Given the description of an element on the screen output the (x, y) to click on. 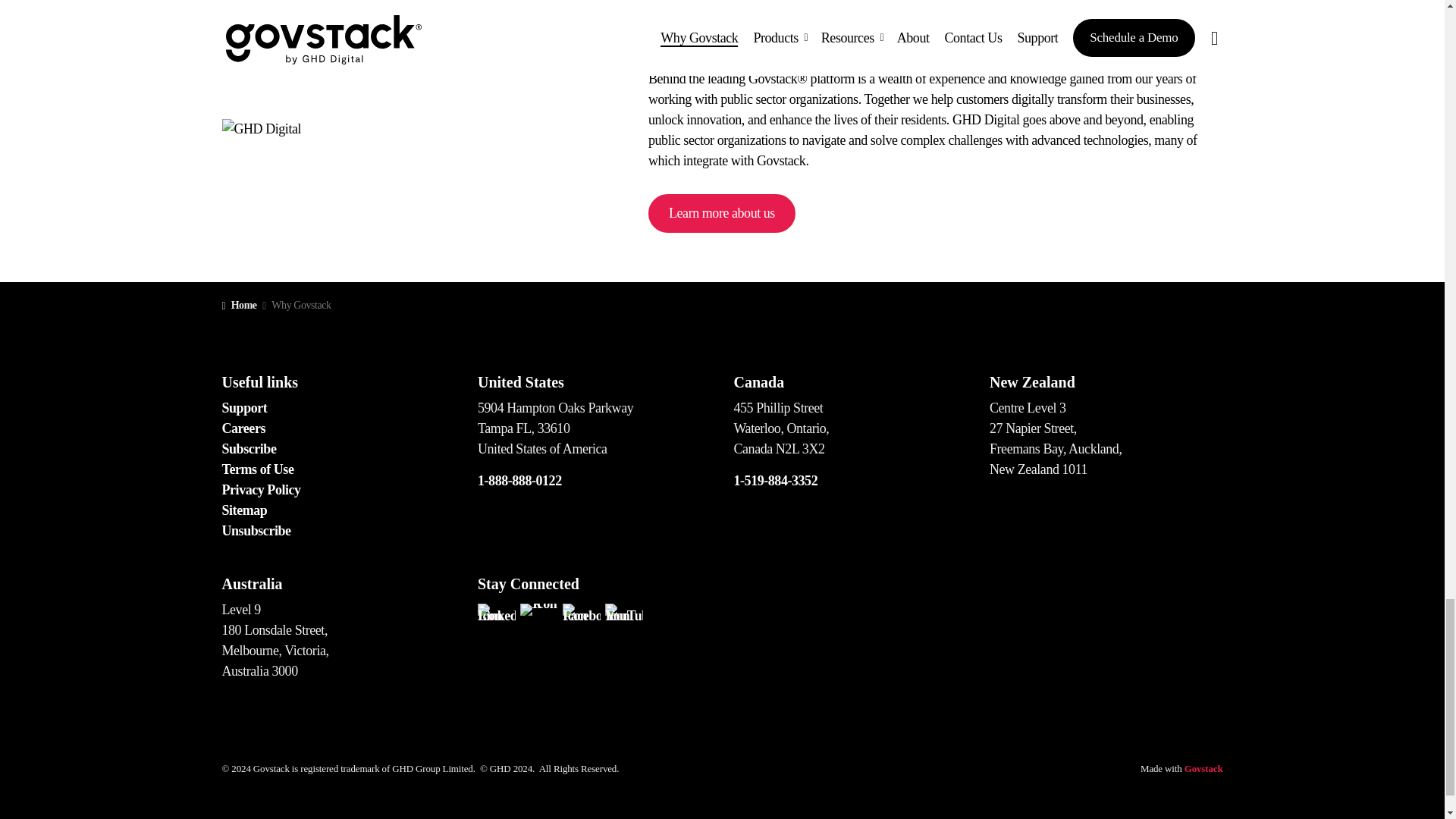
Privacy Policy (260, 489)
Home (238, 304)
Learn more about us (720, 213)
Subscribe (248, 448)
Sitemap (243, 509)
Subscribe (248, 448)
Privacy Policy (260, 489)
Sitemap (243, 509)
Support (243, 407)
Unsubscribe (255, 530)
